Given the description of an element on the screen output the (x, y) to click on. 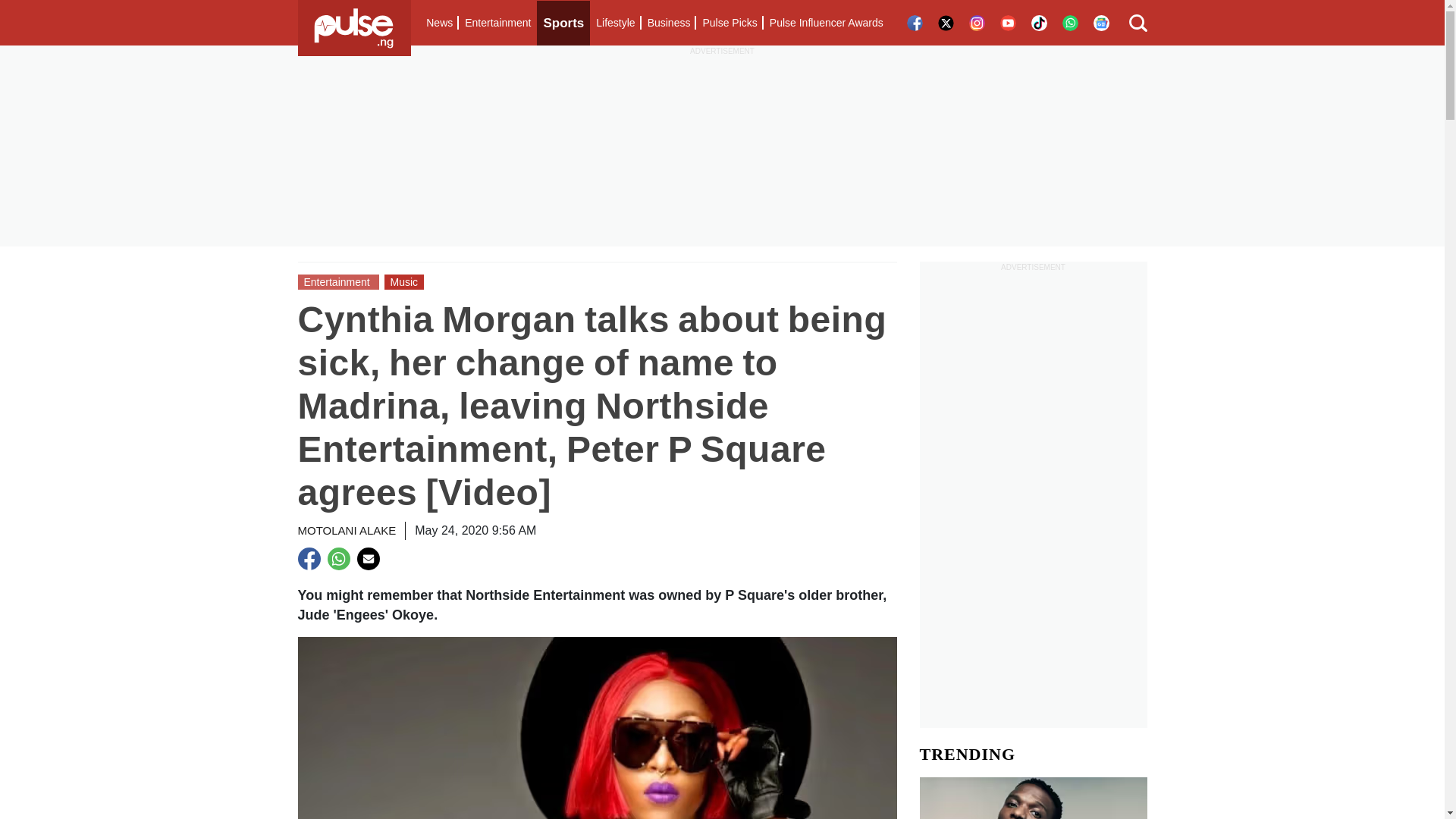
Entertainment (497, 22)
Lifestyle (614, 22)
Sports (563, 22)
Business (669, 22)
